Given the description of an element on the screen output the (x, y) to click on. 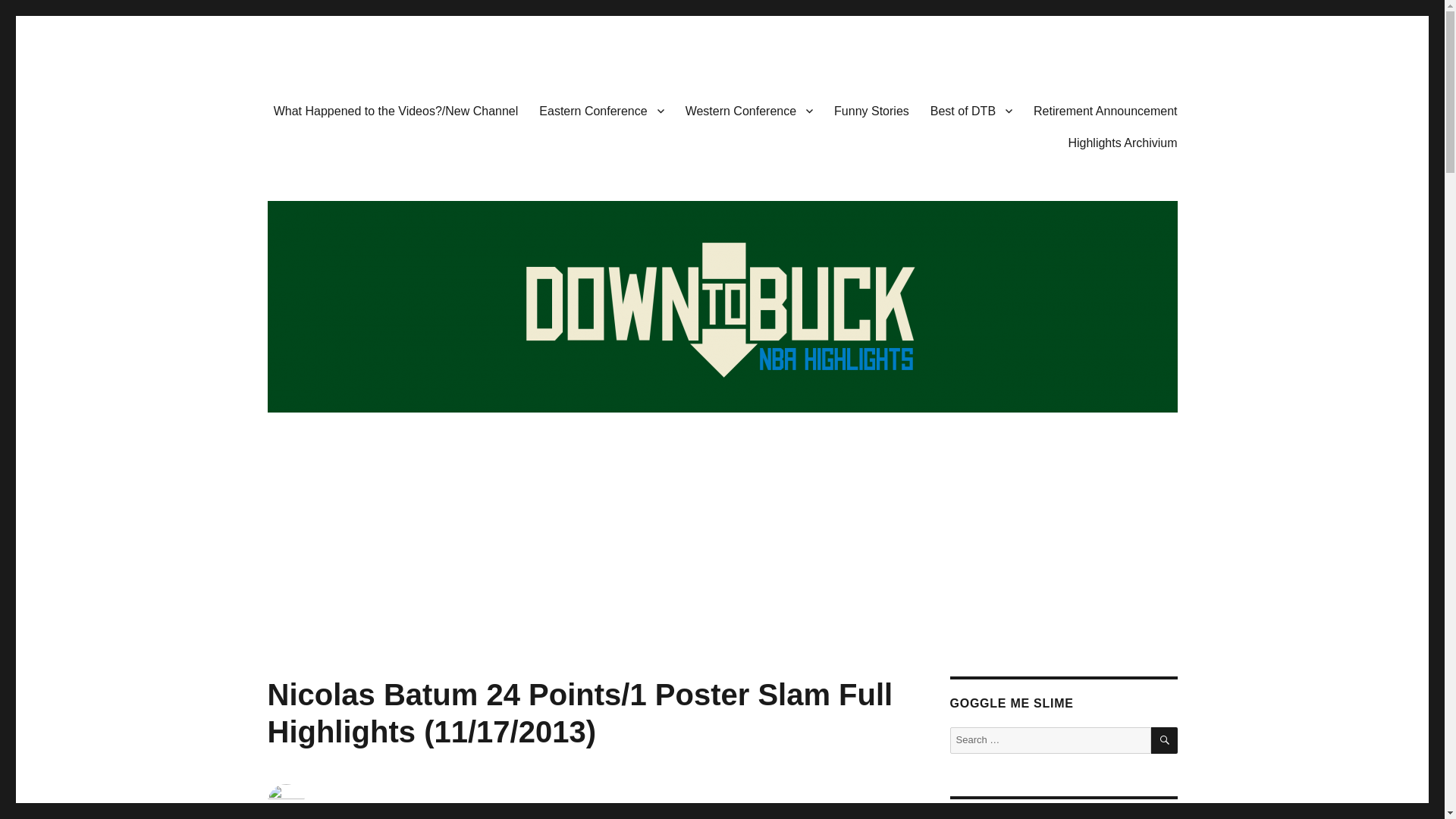
Western Conference (749, 110)
Funny Stories (872, 110)
DownToBuck (333, 65)
Eastern Conference (601, 110)
Retirement Announcement (1105, 110)
Best of DTB (971, 110)
